Given the description of an element on the screen output the (x, y) to click on. 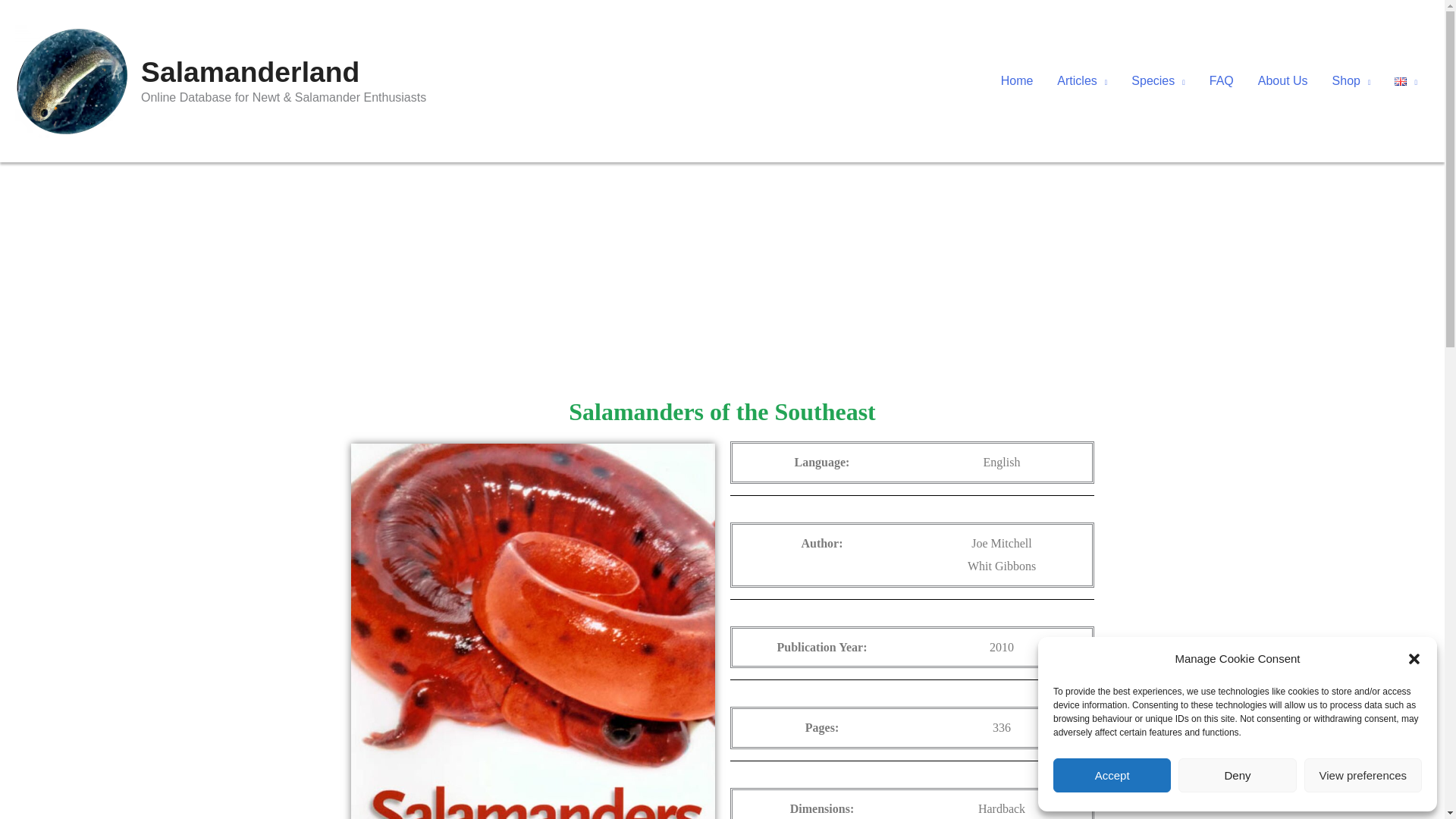
Salamanderland (250, 71)
Accept (1111, 775)
FAQ (1221, 80)
Articles (1082, 80)
Deny (1236, 775)
About Us (1283, 80)
View preferences (1363, 775)
Shop (1351, 80)
Species (1157, 80)
Home (1016, 80)
